Given the description of an element on the screen output the (x, y) to click on. 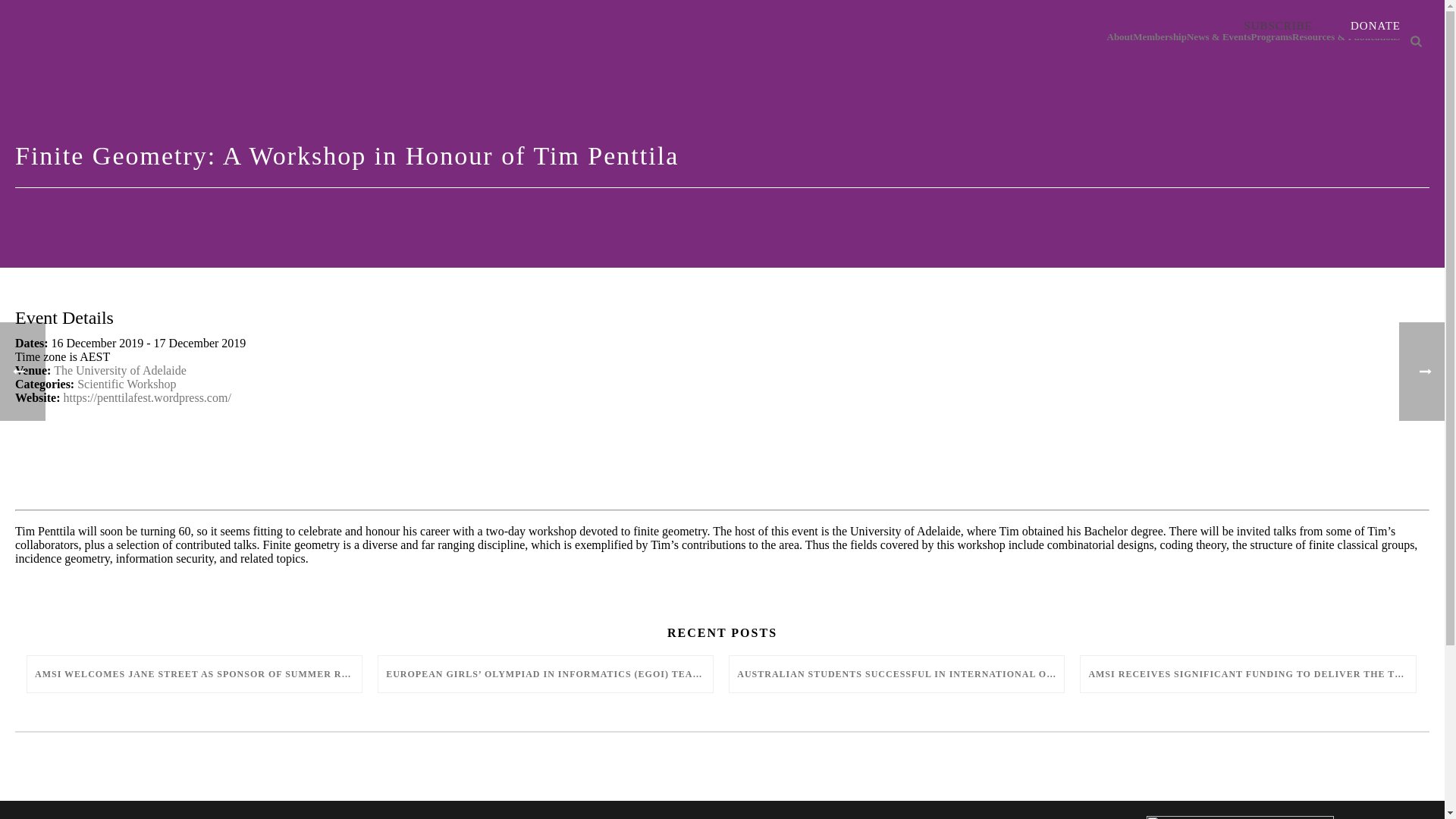
Membership Element type: text (1159, 37)
Programs Element type: text (1271, 37)
About Element type: text (1120, 37)
https://penttilafest.wordpress.com/ Element type: text (147, 397)
SUBSCRIBE Element type: text (1277, 25)
News & Events Element type: text (1218, 37)
DONATE Element type: text (1375, 25)
Resources & Publications Element type: text (1345, 37)
The University of Adelaide Element type: text (119, 370)
Scientific Workshop Element type: text (126, 383)
